Given the description of an element on the screen output the (x, y) to click on. 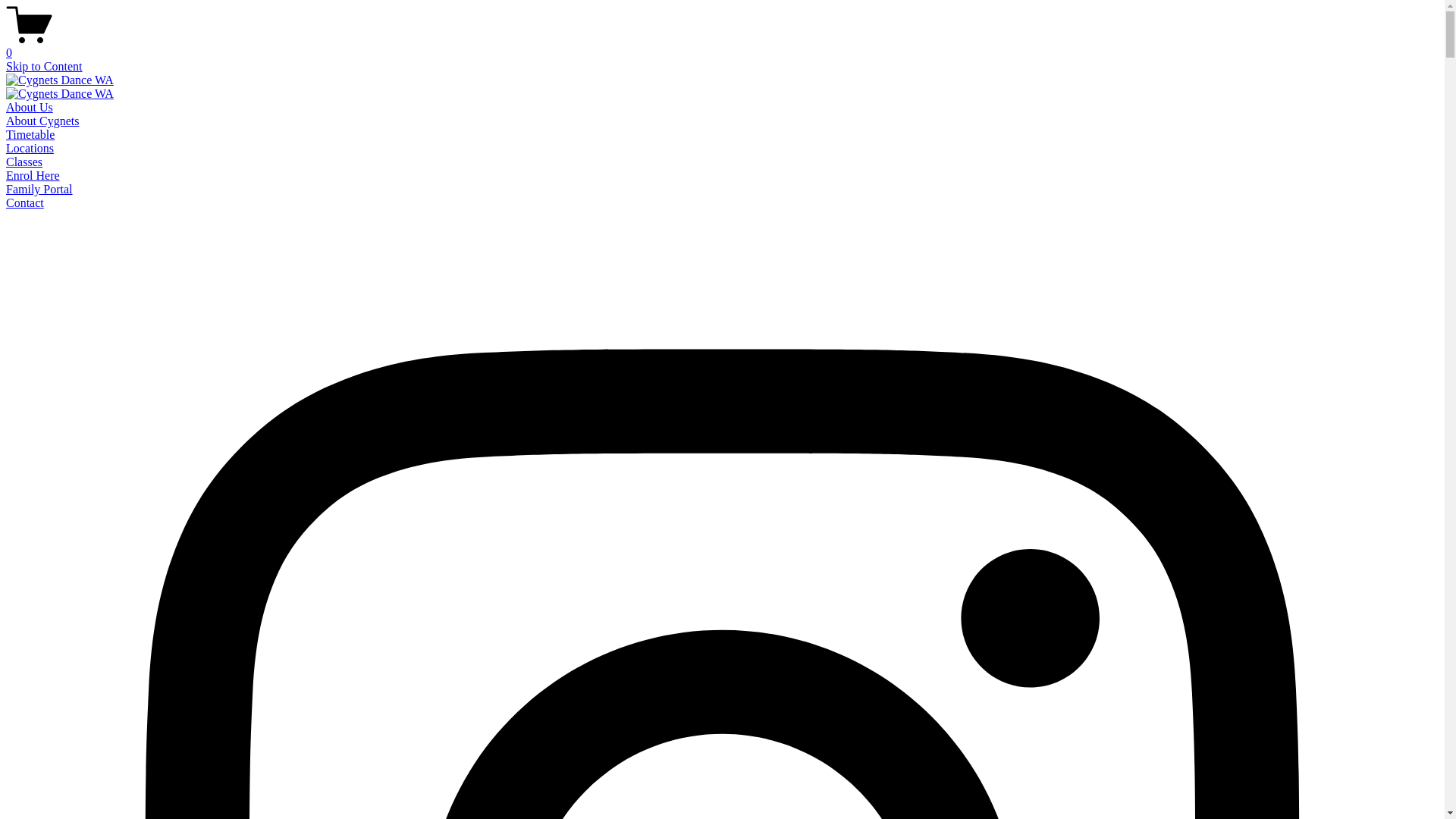
About Us Element type: text (29, 106)
Contact Element type: text (24, 202)
Locations Element type: text (29, 147)
Skip to Content Element type: text (43, 65)
0 Element type: text (722, 45)
Classes Element type: text (24, 161)
Family Portal Element type: text (39, 188)
Enrol Here Element type: text (32, 175)
About Cygnets Element type: text (42, 120)
Timetable Element type: text (30, 134)
